Given the description of an element on the screen output the (x, y) to click on. 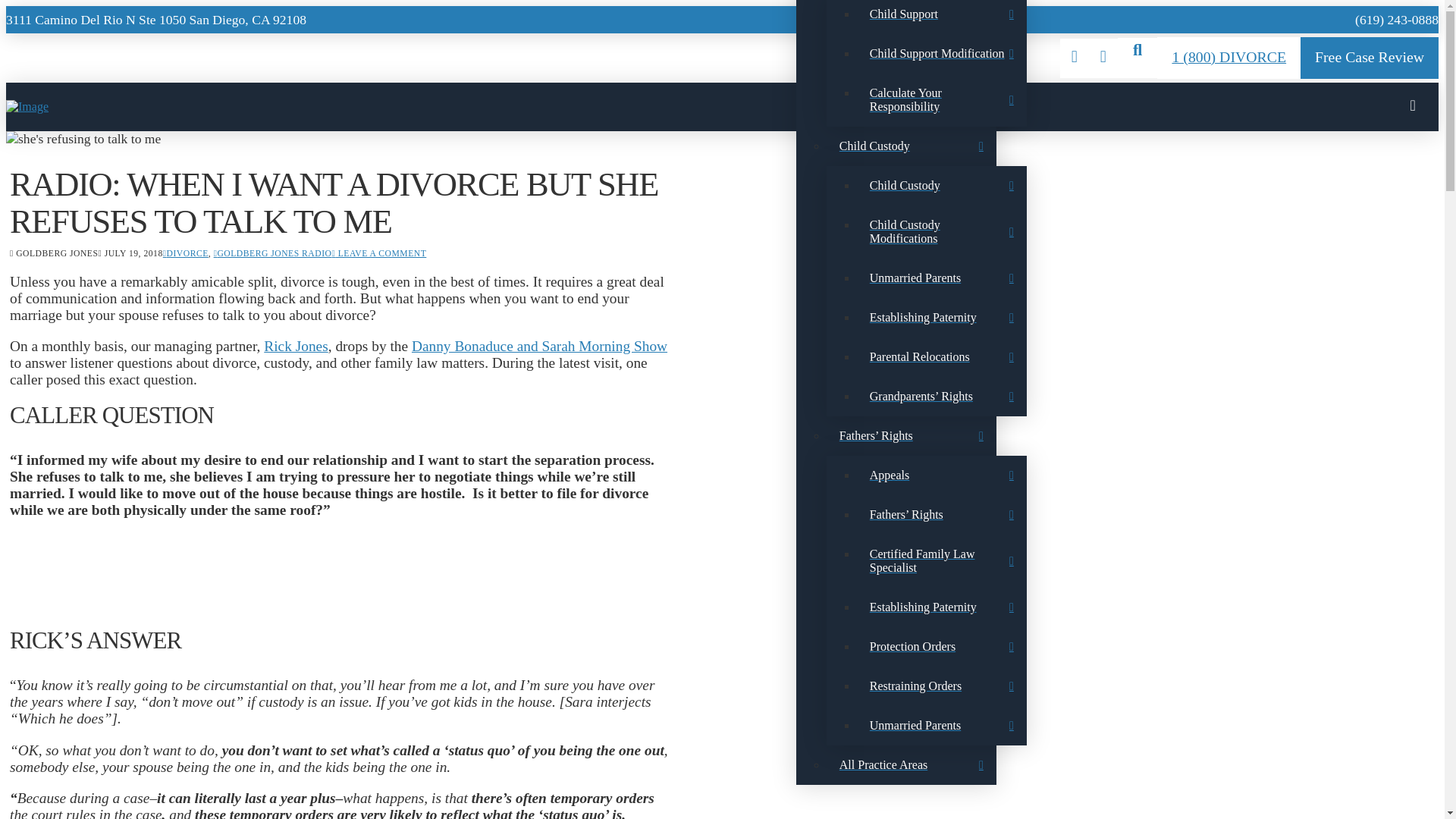
Child Custody Modifications (941, 231)
Child Support (941, 17)
3111 Camino Del Rio N Ste 1050 San Diego, CA 92108 (155, 19)
Child Custody (911, 146)
Calculate Your Responsibility (941, 99)
Child Custody (941, 185)
Parental Relocations (941, 356)
Child Support Modification (941, 53)
Unmarried Parents (941, 278)
Establishing Paternity (941, 317)
